Given the description of an element on the screen output the (x, y) to click on. 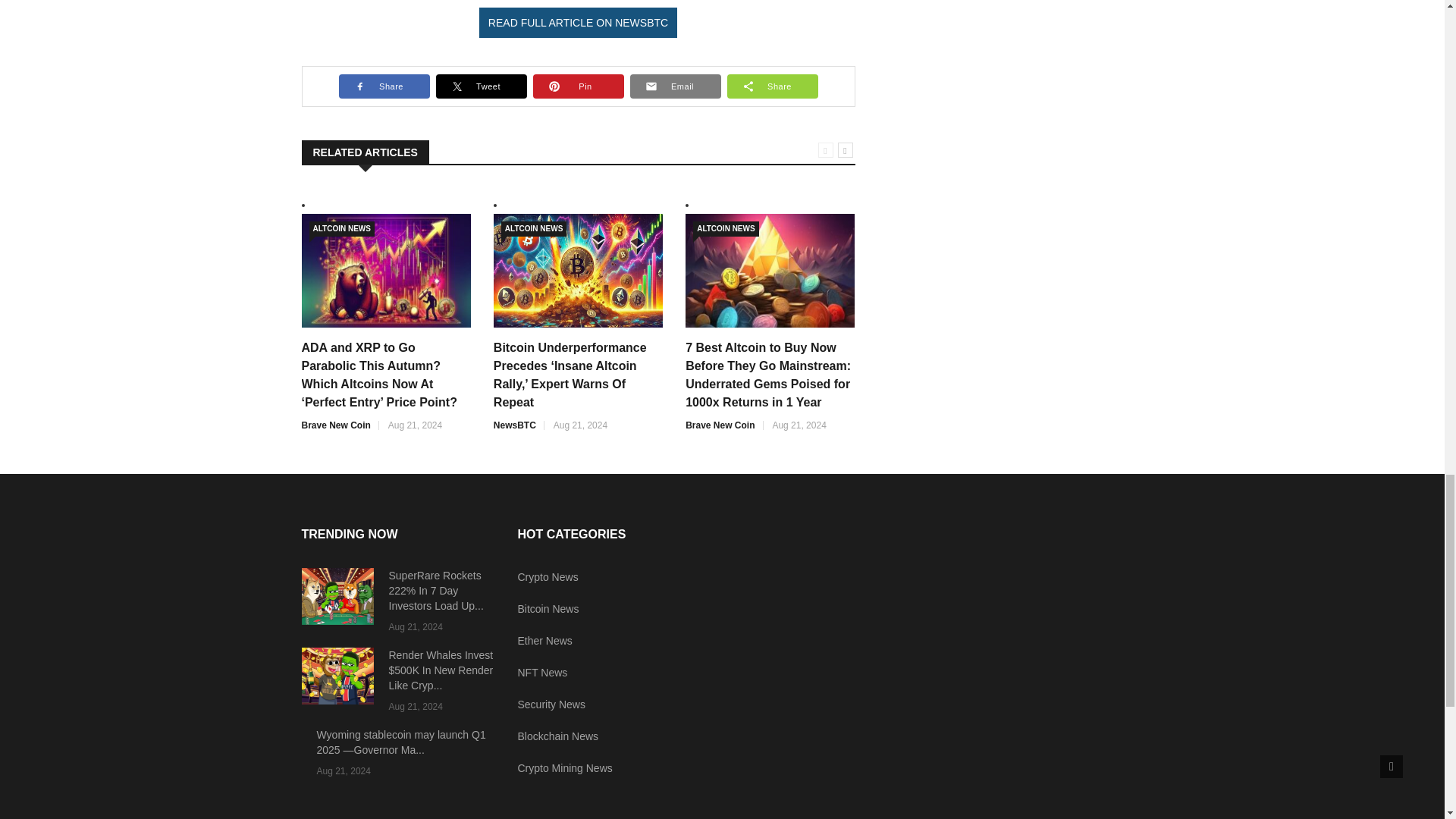
ALTCOIN NEWS (533, 228)
READ FULL ARTICLE ON NEWSBTC (578, 22)
ALTCOIN NEWS (725, 228)
Brave New Coin (336, 425)
NewsBTC (514, 425)
Brave New Coin (719, 425)
ALTCOIN NEWS (341, 228)
